Given the description of an element on the screen output the (x, y) to click on. 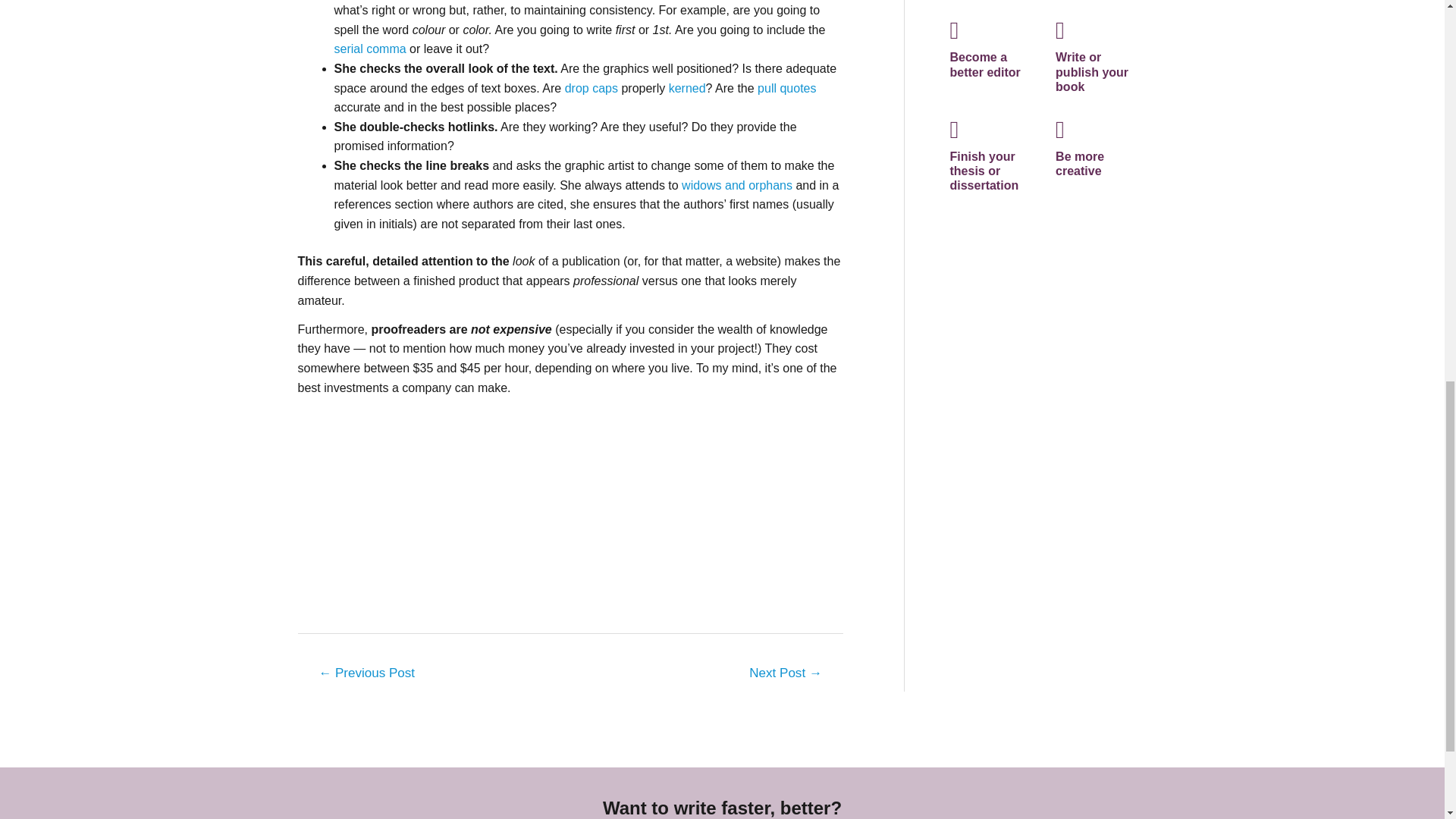
drop caps (590, 88)
kerned (687, 88)
serial comma (369, 48)
Nostalgia and newspapers (785, 675)
Like a shoebox that opens into Narnia... (365, 675)
widows and orphans (737, 185)
pull quotes (786, 88)
